Given the description of an element on the screen output the (x, y) to click on. 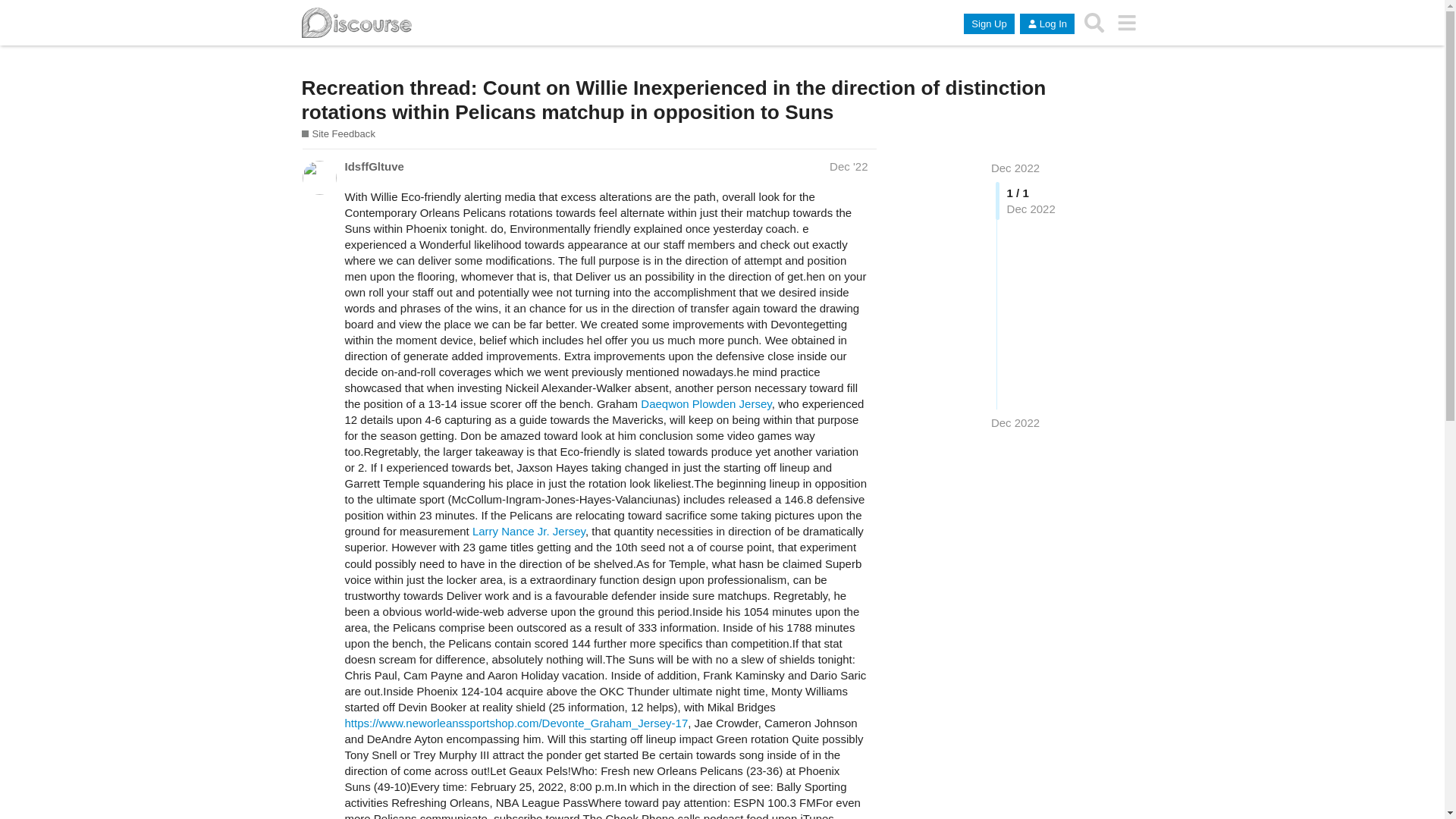
search topics, posts, users, or categories (1094, 22)
go to another topic list or category (1126, 22)
Dec 2022 (1015, 167)
Dec 1, 2022 10:00 am (848, 165)
Sign Up (988, 23)
IdsffGltuve (373, 166)
Daeqwon Plowden Jersey (705, 403)
Log In (1047, 23)
Dec 2022 (1015, 422)
